Given the description of an element on the screen output the (x, y) to click on. 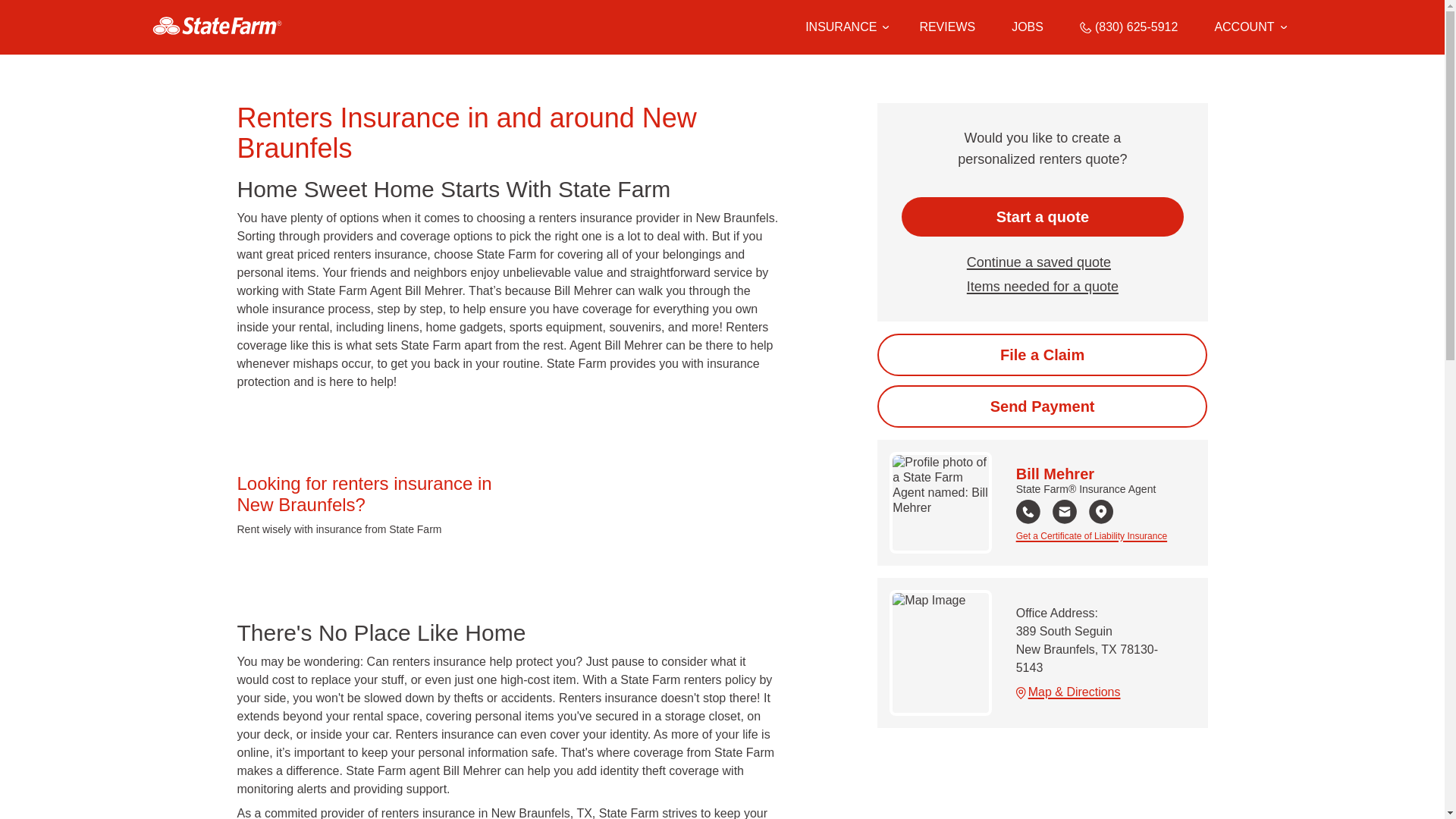
ACCOUNT (1250, 27)
Insurance (847, 26)
JOBS (1027, 27)
Account Options (1250, 27)
REVIEWS (946, 27)
INSURANCE (840, 27)
Start the claim process online (1042, 354)
